Given the description of an element on the screen output the (x, y) to click on. 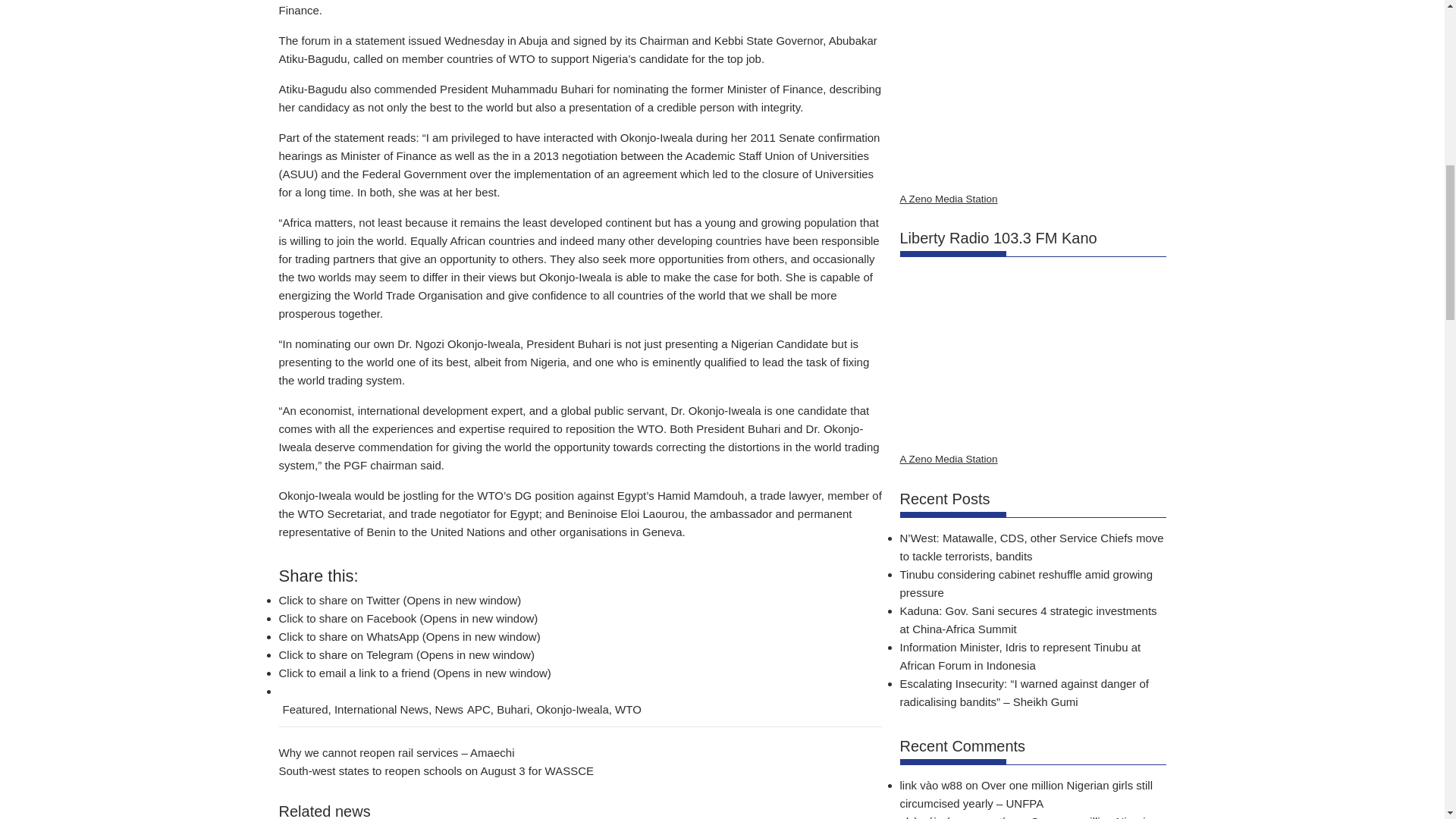
International News (381, 708)
South-west states to reopen schools on August 3 for WASSCE (436, 770)
Buhari (512, 708)
Click to share on Facebook (408, 617)
News (448, 708)
APC (478, 708)
Click to email a link to a friend (415, 672)
WTO (628, 708)
Click to share on WhatsApp (409, 635)
Click to share on Telegram (406, 654)
